Given the description of an element on the screen output the (x, y) to click on. 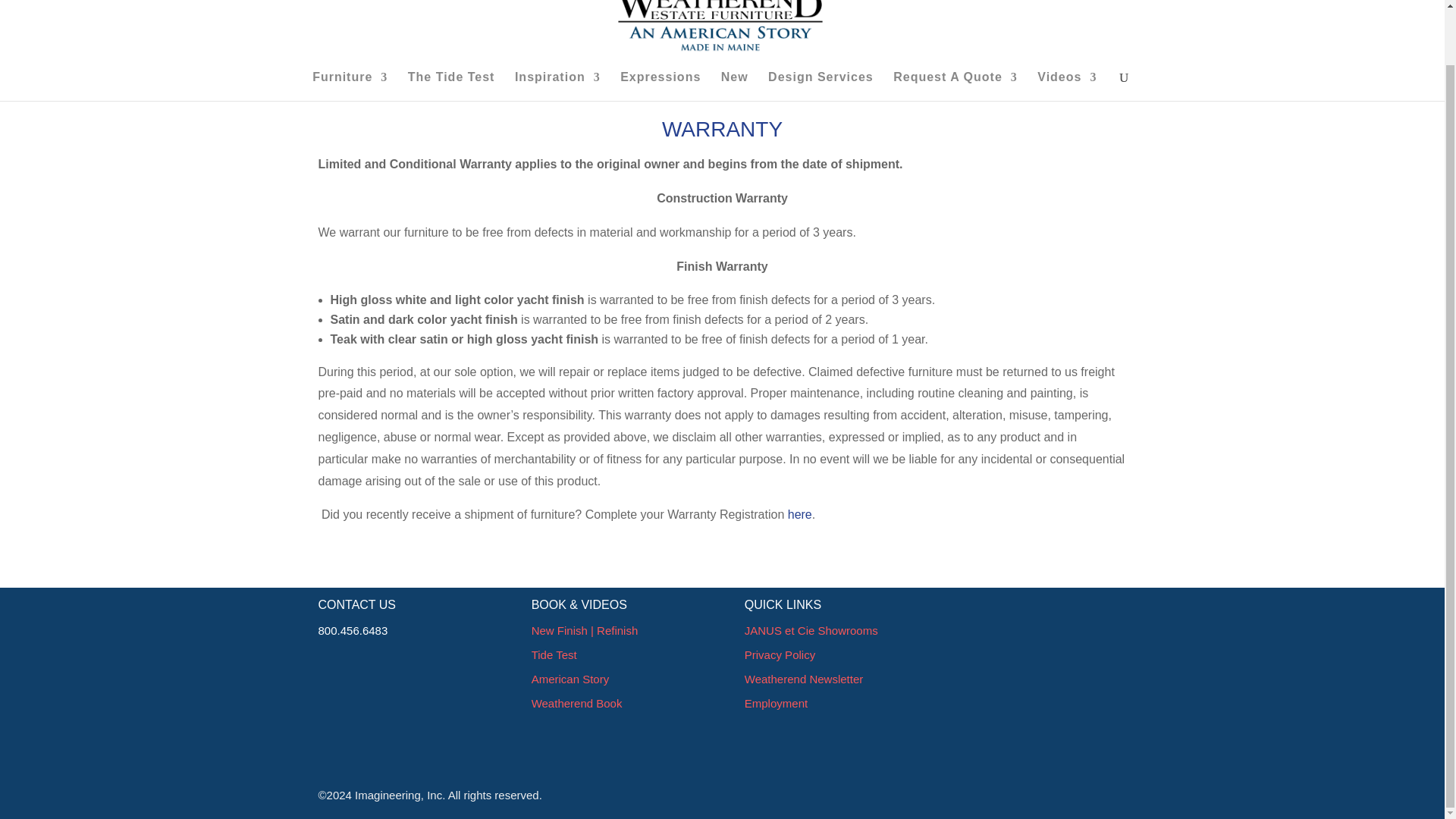
Furniture (350, 86)
Inspiration (557, 86)
The Tide Test (451, 86)
